Given the description of an element on the screen output the (x, y) to click on. 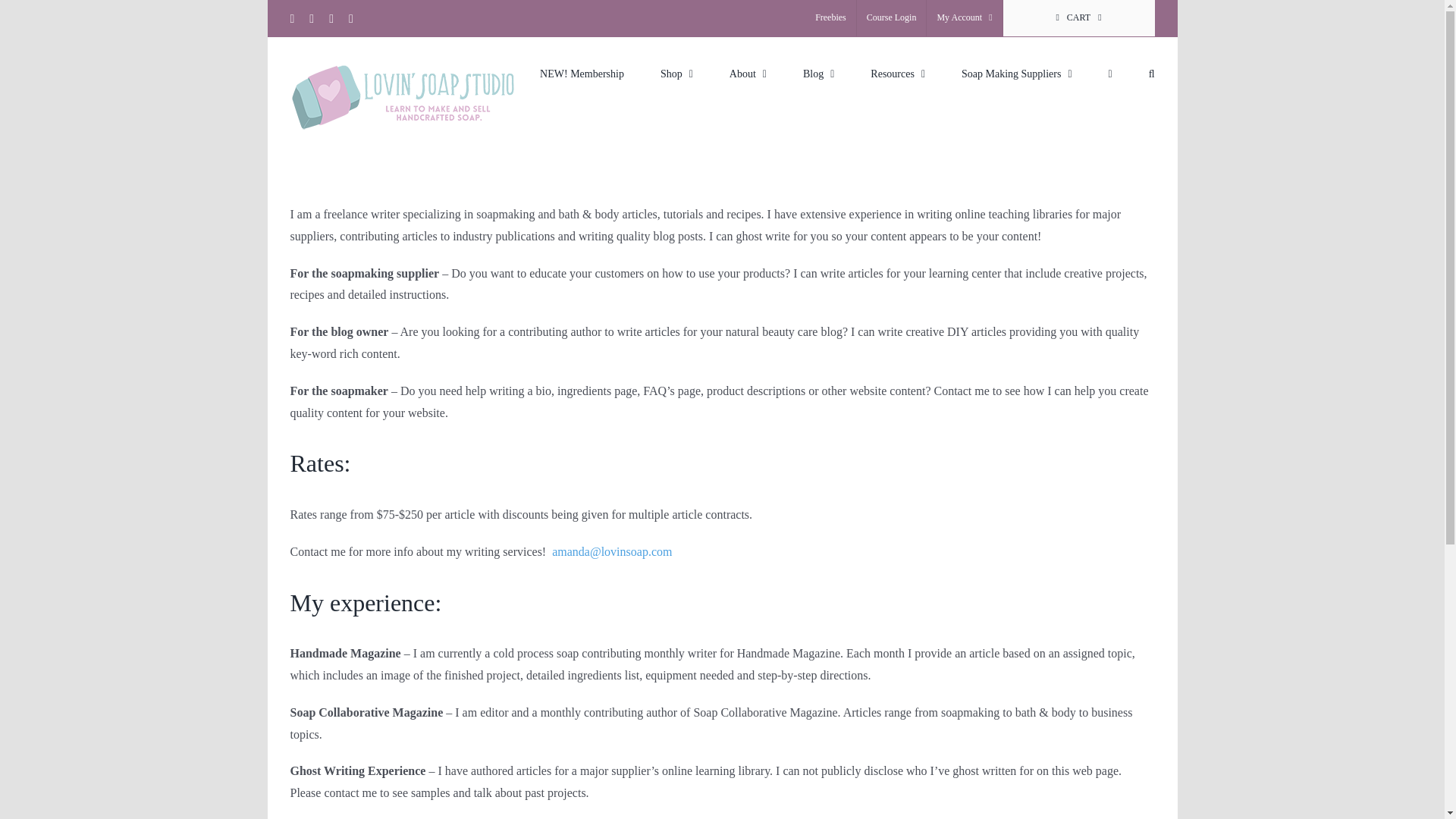
Freebies (830, 18)
Log In (1034, 179)
NEW! Membership (582, 72)
Soap Making Suppliers (1015, 72)
Course Login (891, 18)
My Account (963, 18)
CART (1078, 18)
